Given the description of an element on the screen output the (x, y) to click on. 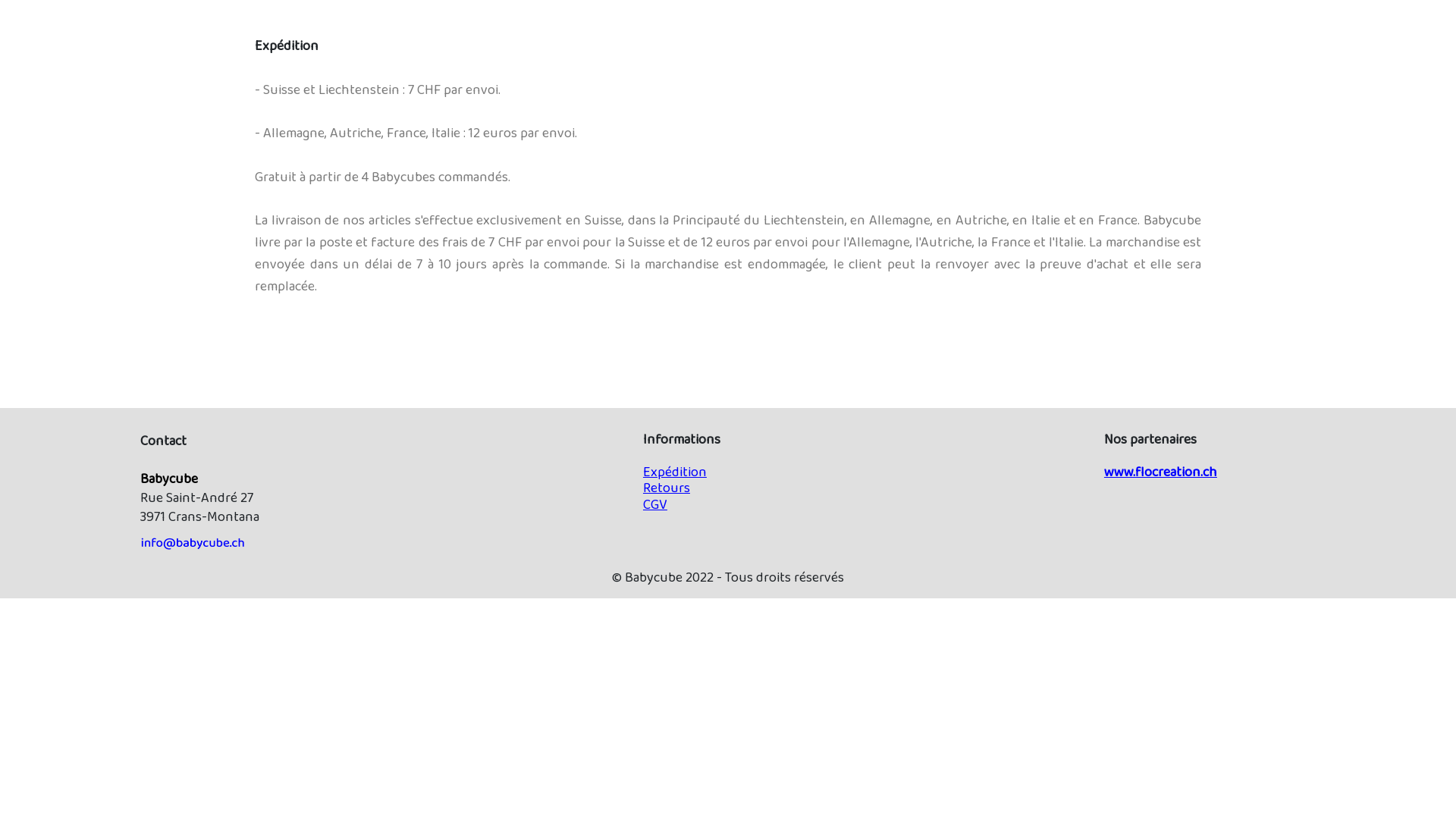
CGV Element type: text (655, 505)
Retours Element type: text (666, 488)
www.flocreation.ch Element type: text (1160, 472)
